Given the description of an element on the screen output the (x, y) to click on. 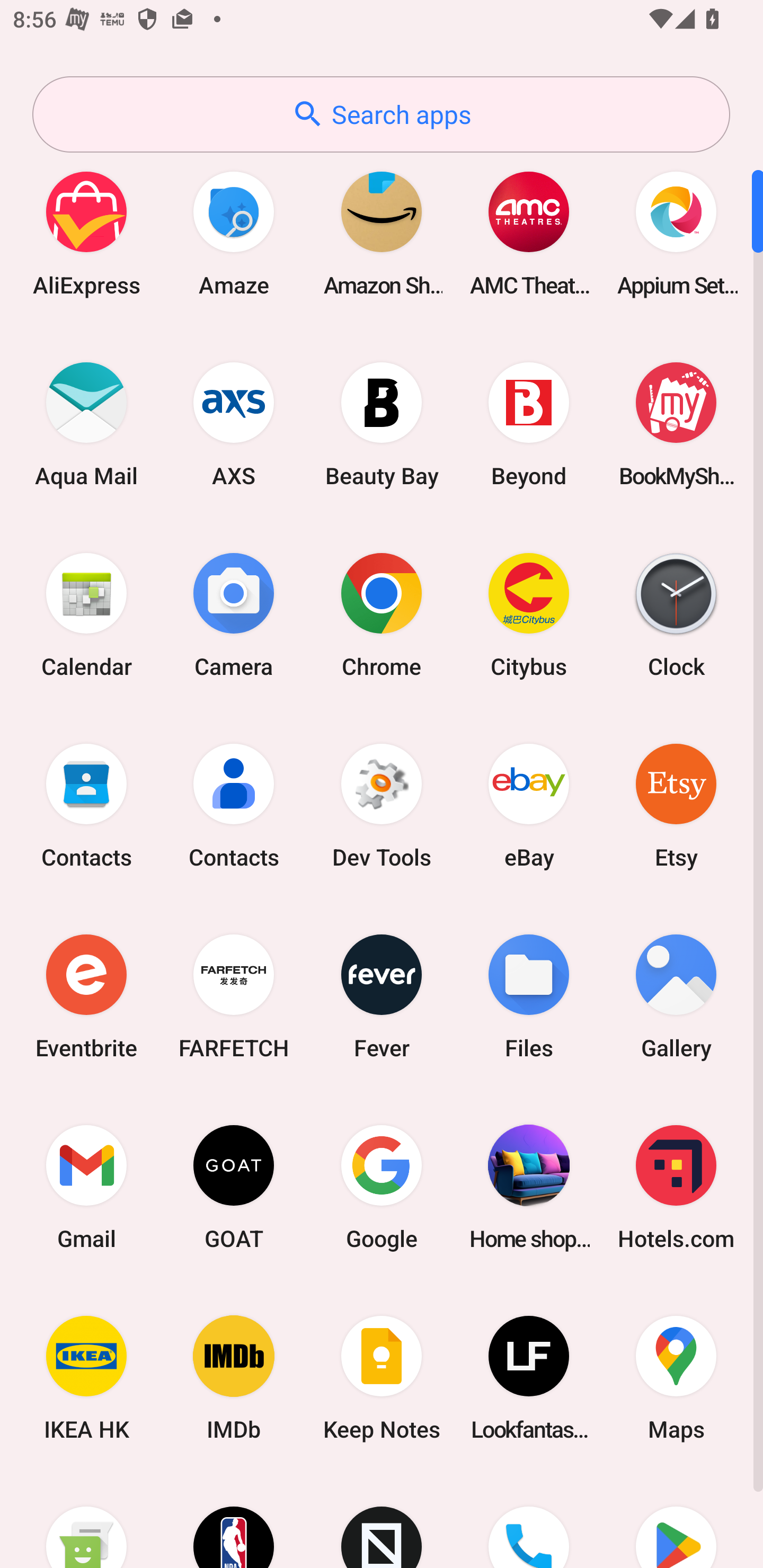
  Search apps (381, 114)
AliExpress (86, 233)
Amaze (233, 233)
Amazon Shopping (381, 233)
AMC Theatres (528, 233)
Appium Settings (676, 233)
Aqua Mail (86, 424)
AXS (233, 424)
Beauty Bay (381, 424)
Beyond (528, 424)
BookMyShow (676, 424)
Calendar (86, 614)
Camera (233, 614)
Chrome (381, 614)
Citybus (528, 614)
Clock (676, 614)
Contacts (86, 805)
Contacts (233, 805)
Dev Tools (381, 805)
eBay (528, 805)
Etsy (676, 805)
Eventbrite (86, 996)
FARFETCH (233, 996)
Fever (381, 996)
Files (528, 996)
Gallery (676, 996)
Gmail (86, 1186)
GOAT (233, 1186)
Google (381, 1186)
Home shopping (528, 1186)
Hotels.com (676, 1186)
IKEA HK (86, 1377)
IMDb (233, 1377)
Keep Notes (381, 1377)
Lookfantastic (528, 1377)
Maps (676, 1377)
Messaging (86, 1520)
NBA (233, 1520)
Novelship (381, 1520)
Phone (528, 1520)
Play Store (676, 1520)
